Given the description of an element on the screen output the (x, y) to click on. 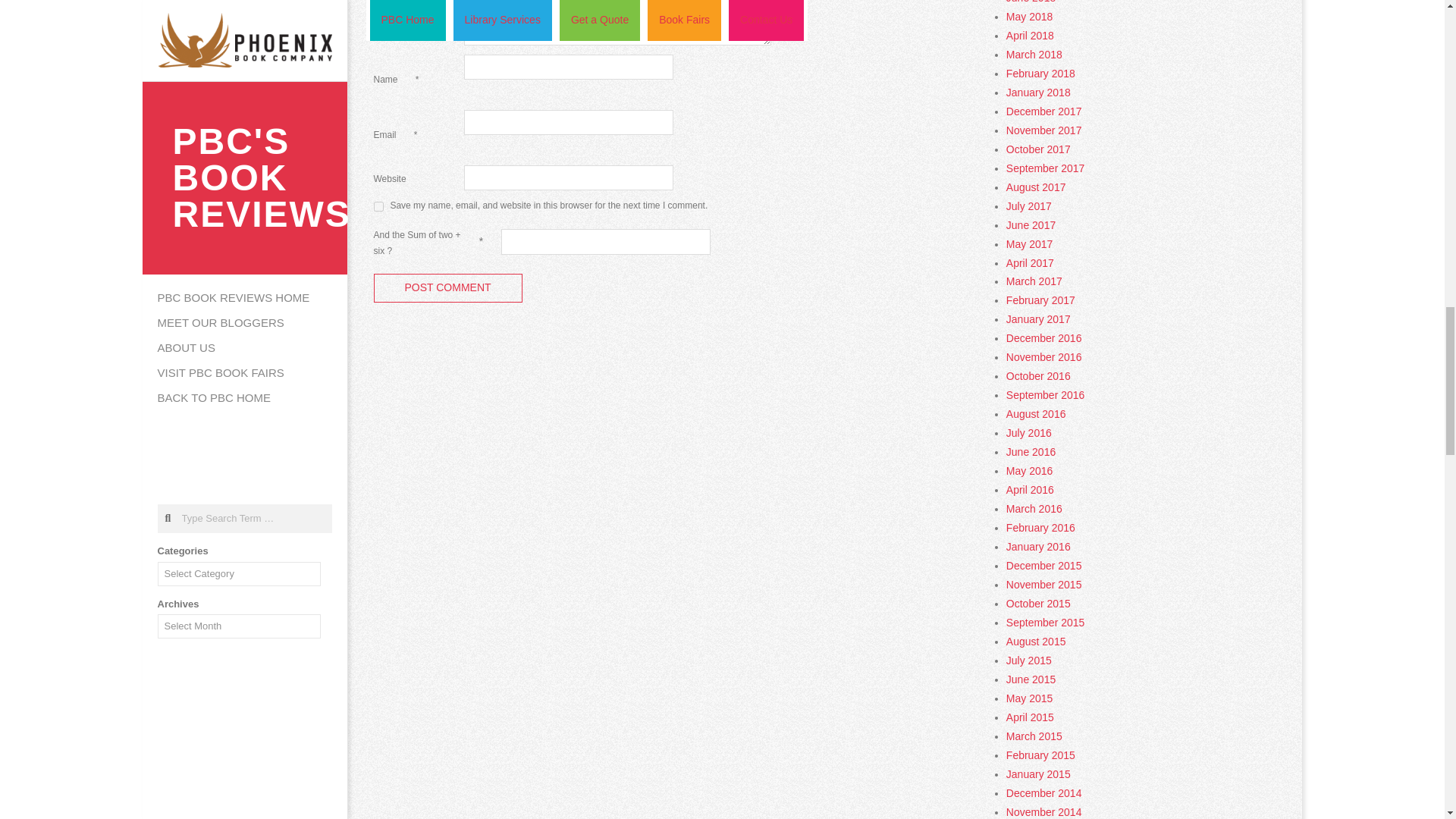
Post Comment (446, 288)
yes (377, 206)
Post Comment (446, 288)
